Given the description of an element on the screen output the (x, y) to click on. 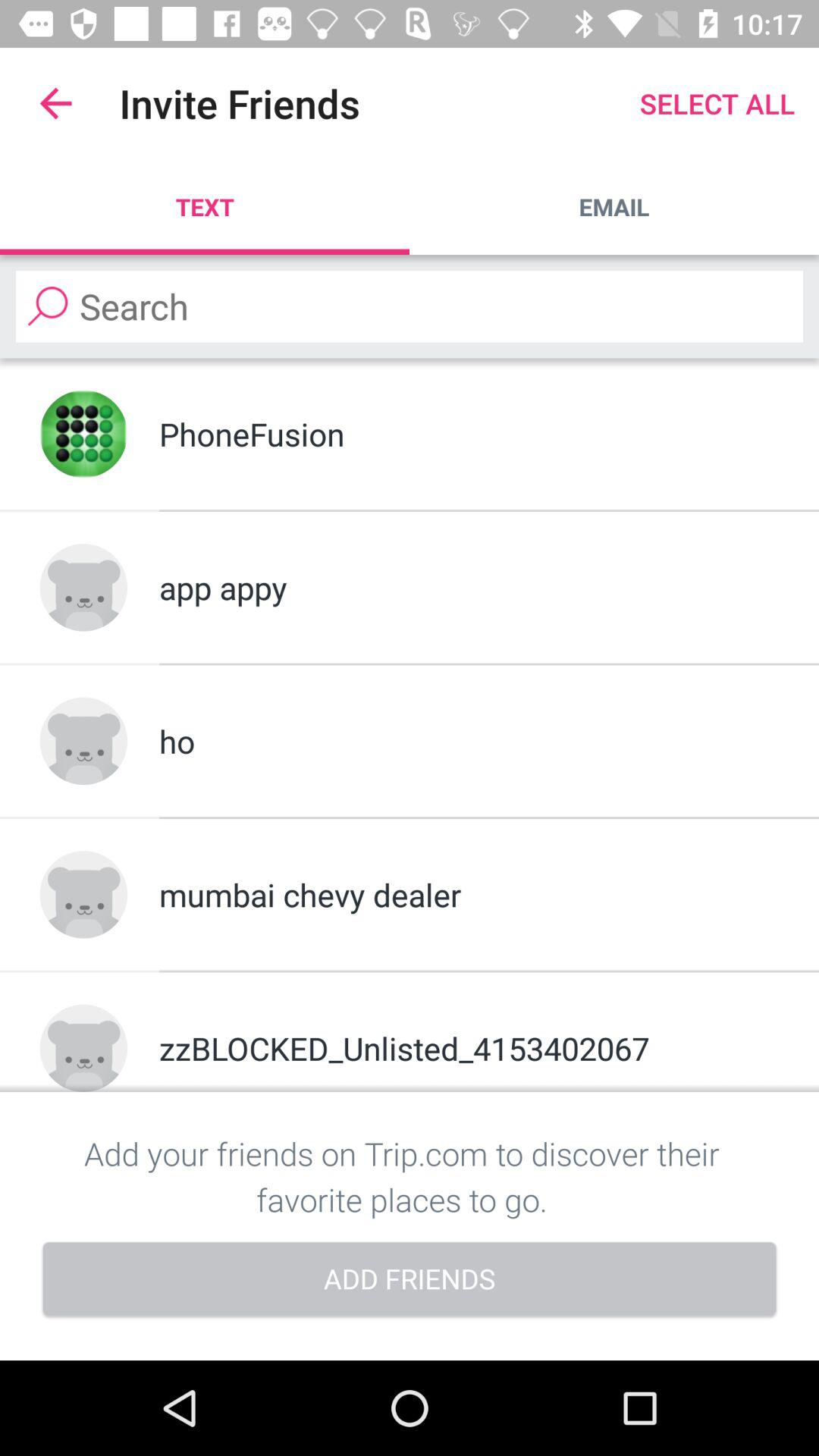
search options (409, 306)
